Given the description of an element on the screen output the (x, y) to click on. 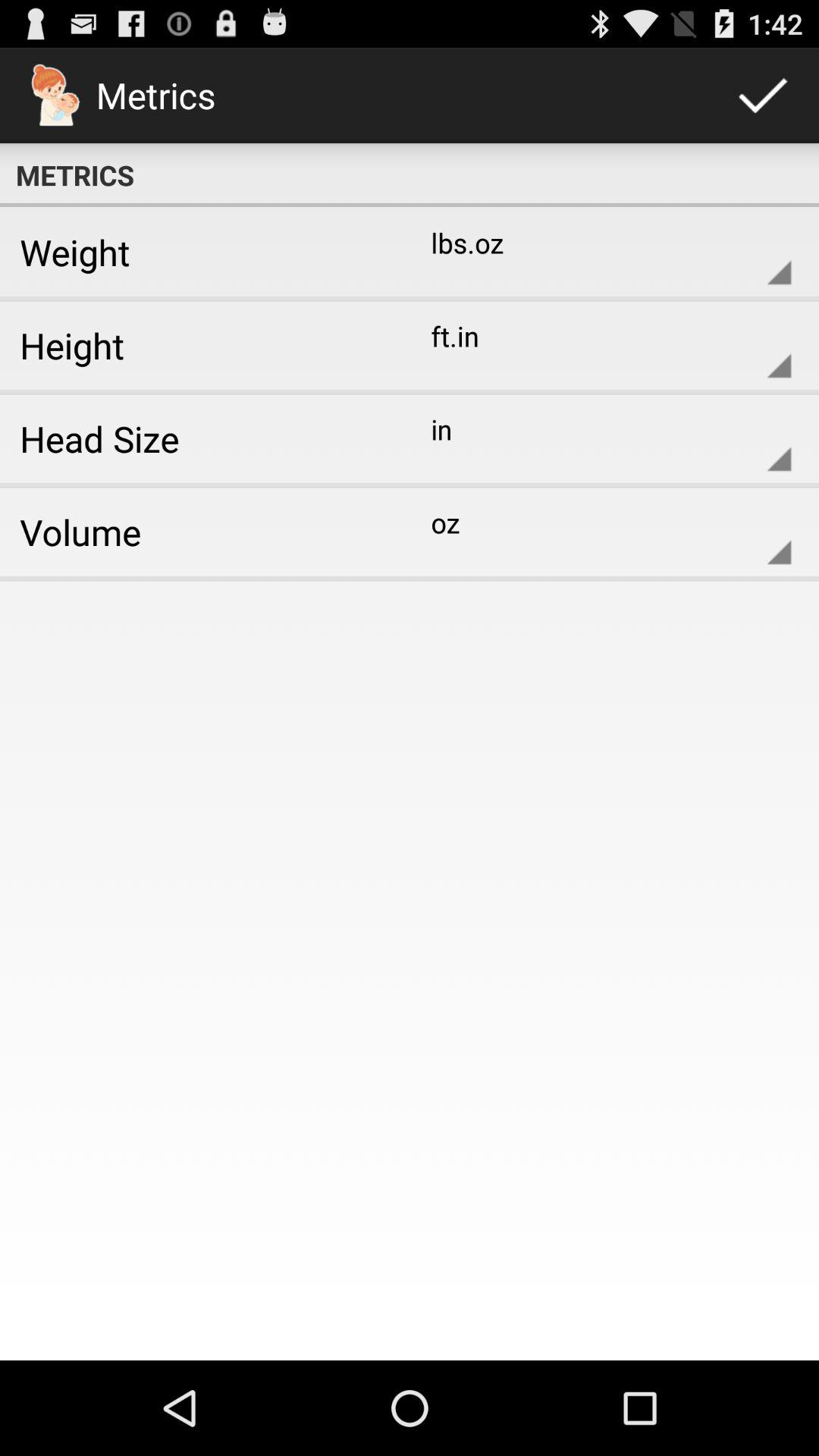
tap icon next to lbs.oz (199, 252)
